Given the description of an element on the screen output the (x, y) to click on. 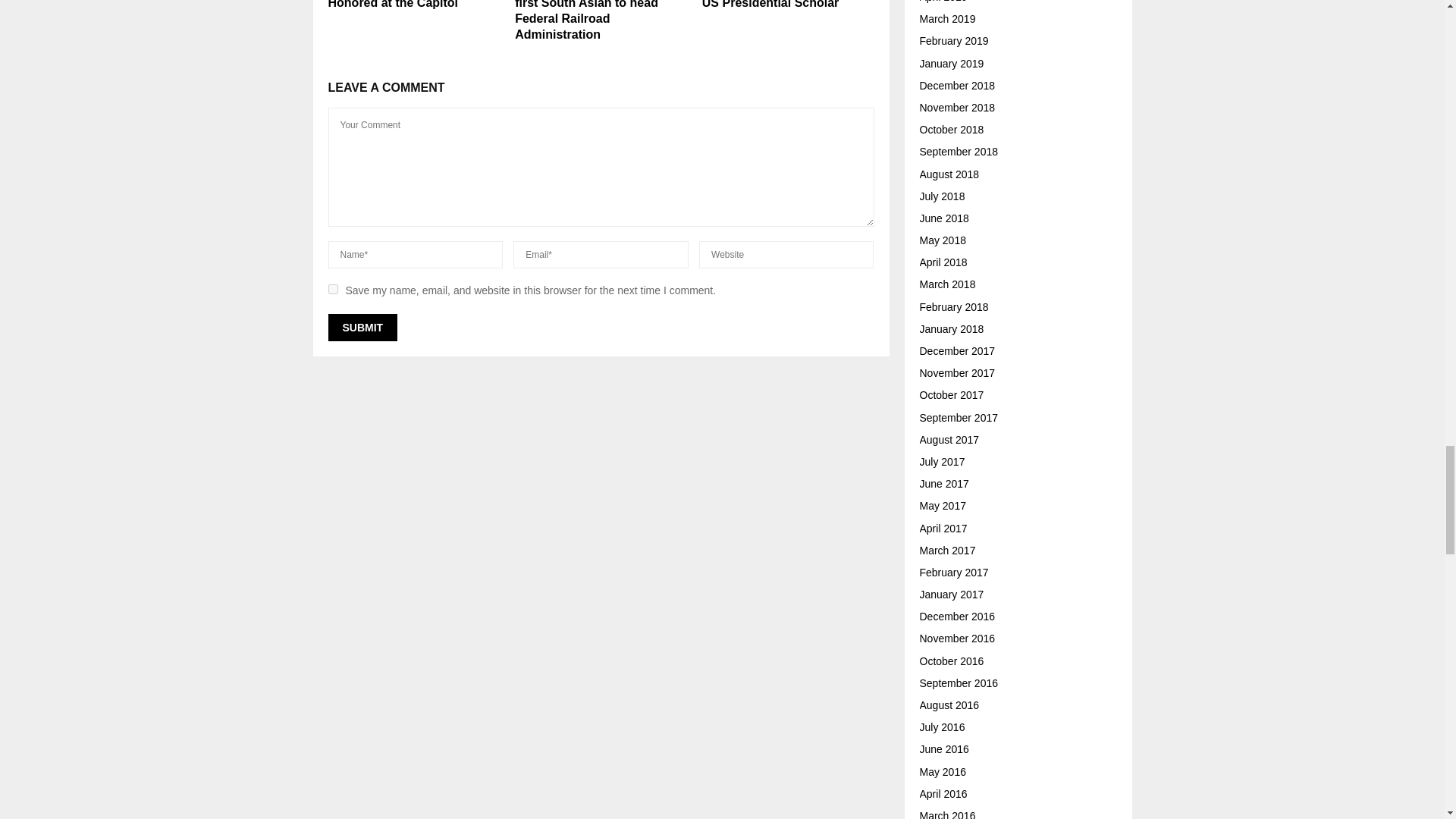
yes (332, 289)
Submit (362, 327)
